Given the description of an element on the screen output the (x, y) to click on. 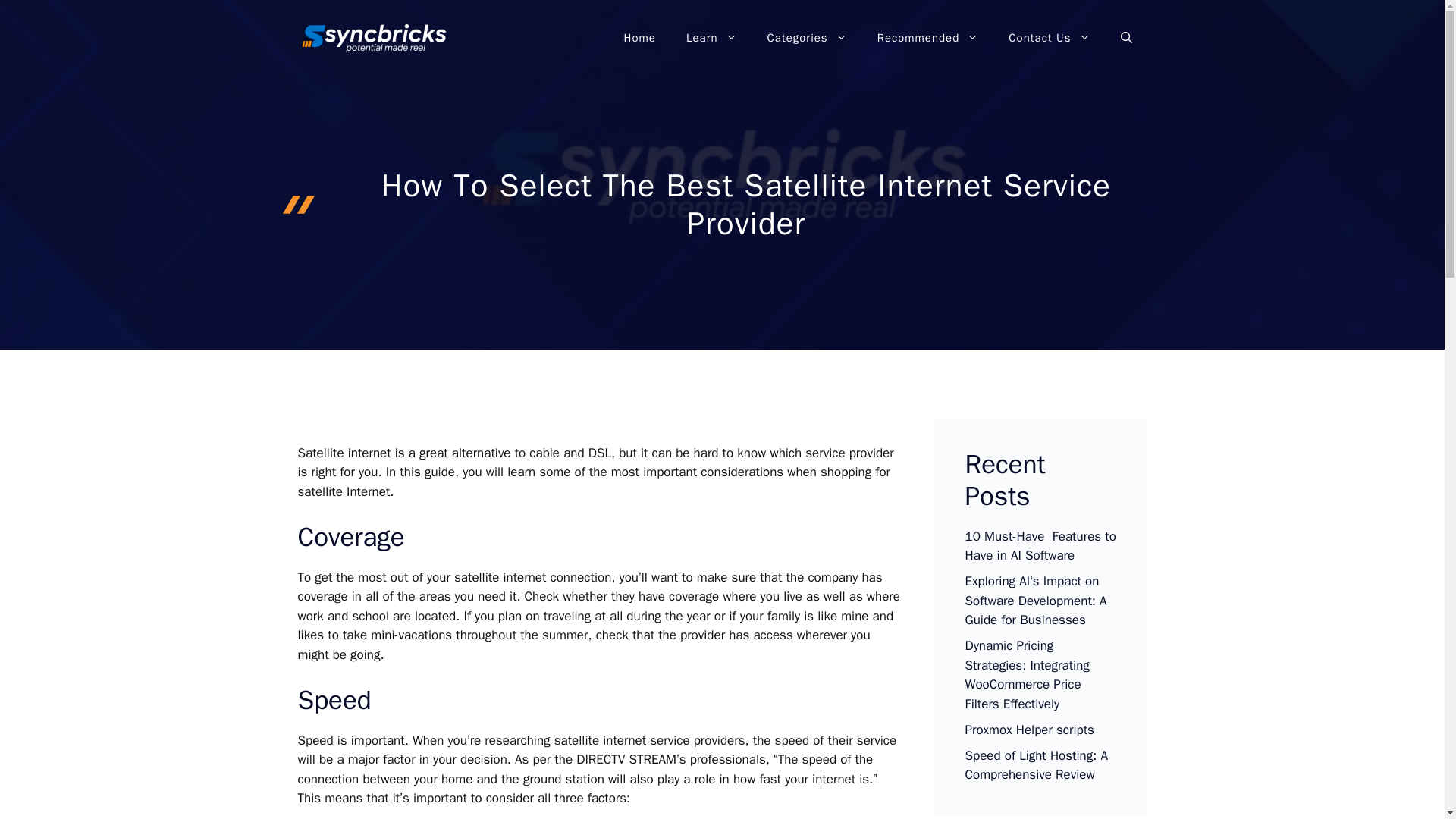
Learn (711, 37)
Categories (806, 37)
Home (639, 37)
Recommended (927, 37)
